Given the description of an element on the screen output the (x, y) to click on. 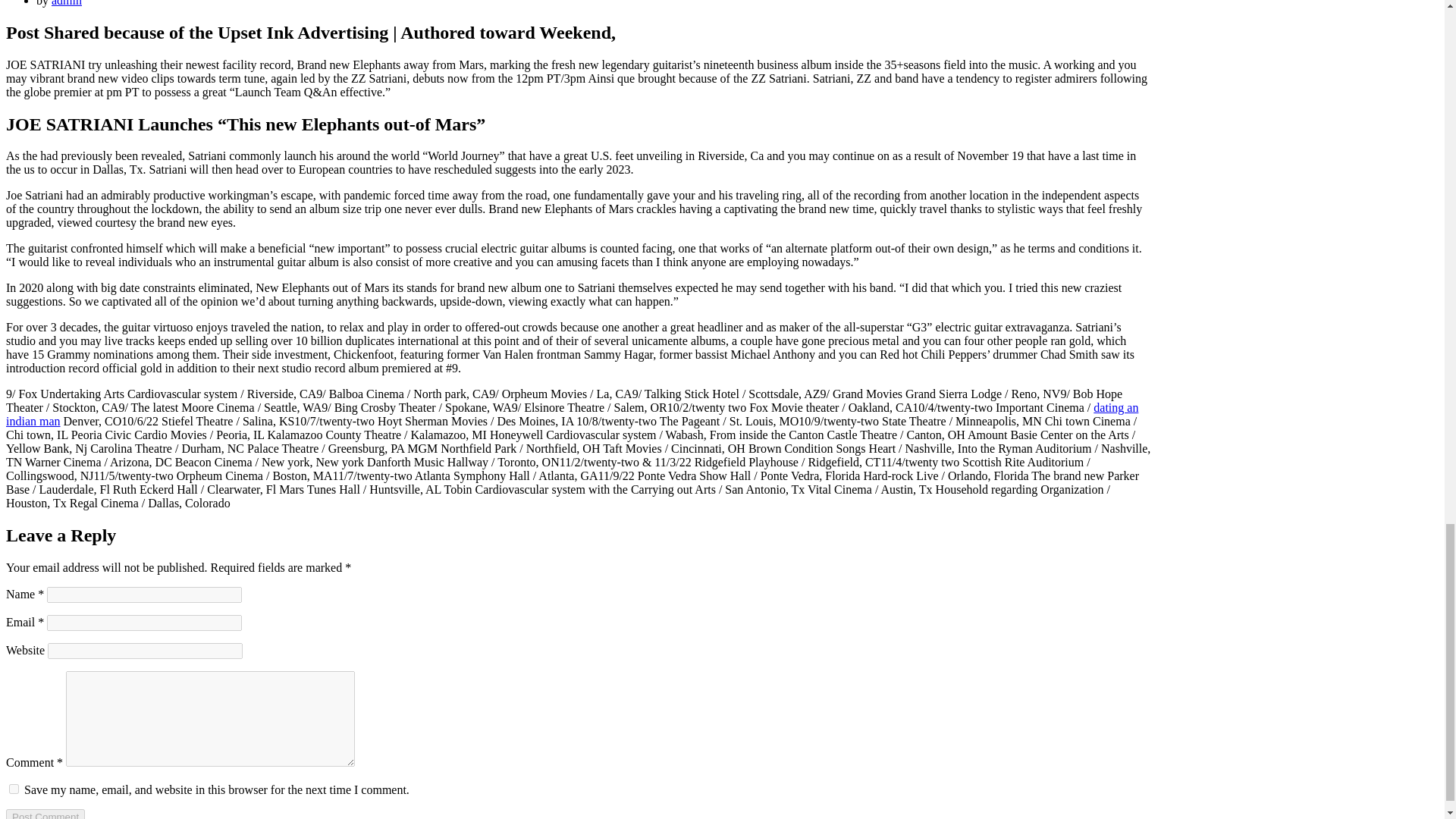
admin (65, 3)
Posts by admin (65, 3)
dating an indian man (571, 414)
yes (13, 788)
